Given the description of an element on the screen output the (x, y) to click on. 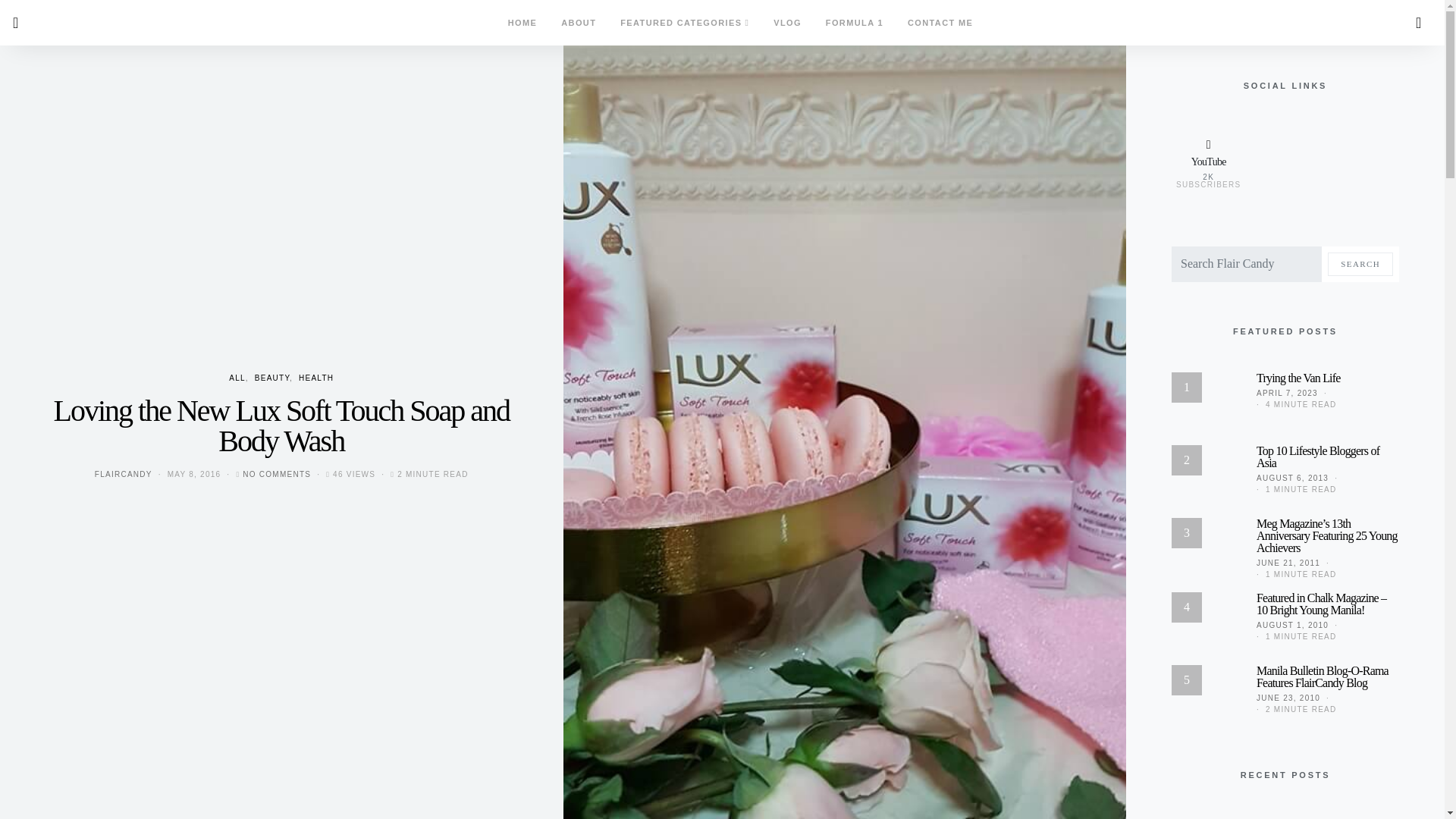
View all posts by flaircandy (123, 473)
